Given the description of an element on the screen output the (x, y) to click on. 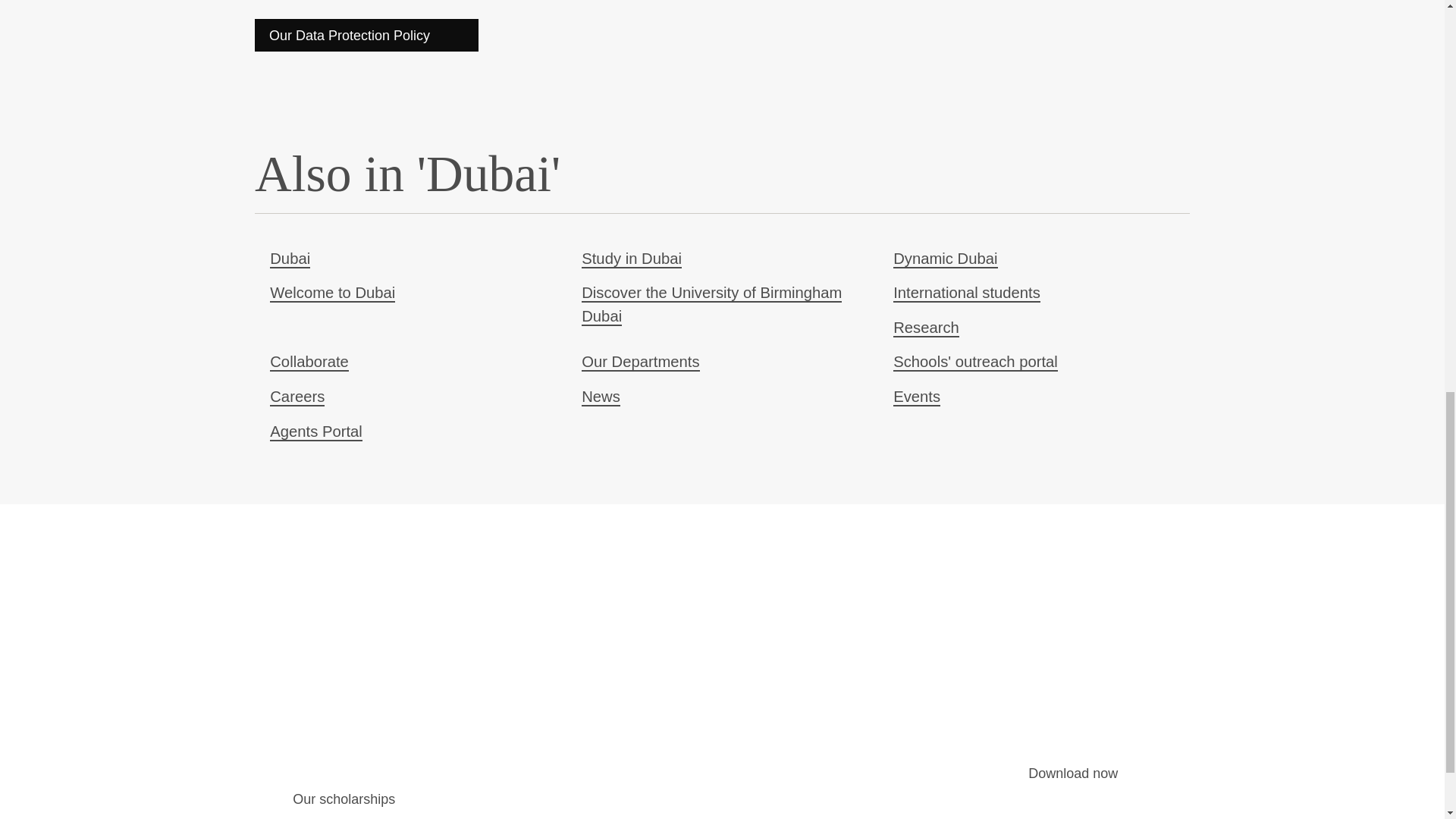
International students (967, 293)
Data Protection Information (366, 34)
Events (916, 397)
Study in Dubai (630, 259)
Collaborate (309, 361)
Our Data Protection Policy (366, 34)
Discover the University of Birmingham Dubai (710, 304)
Agents Portal (315, 432)
Our scholarships (361, 798)
News (600, 397)
